Given the description of an element on the screen output the (x, y) to click on. 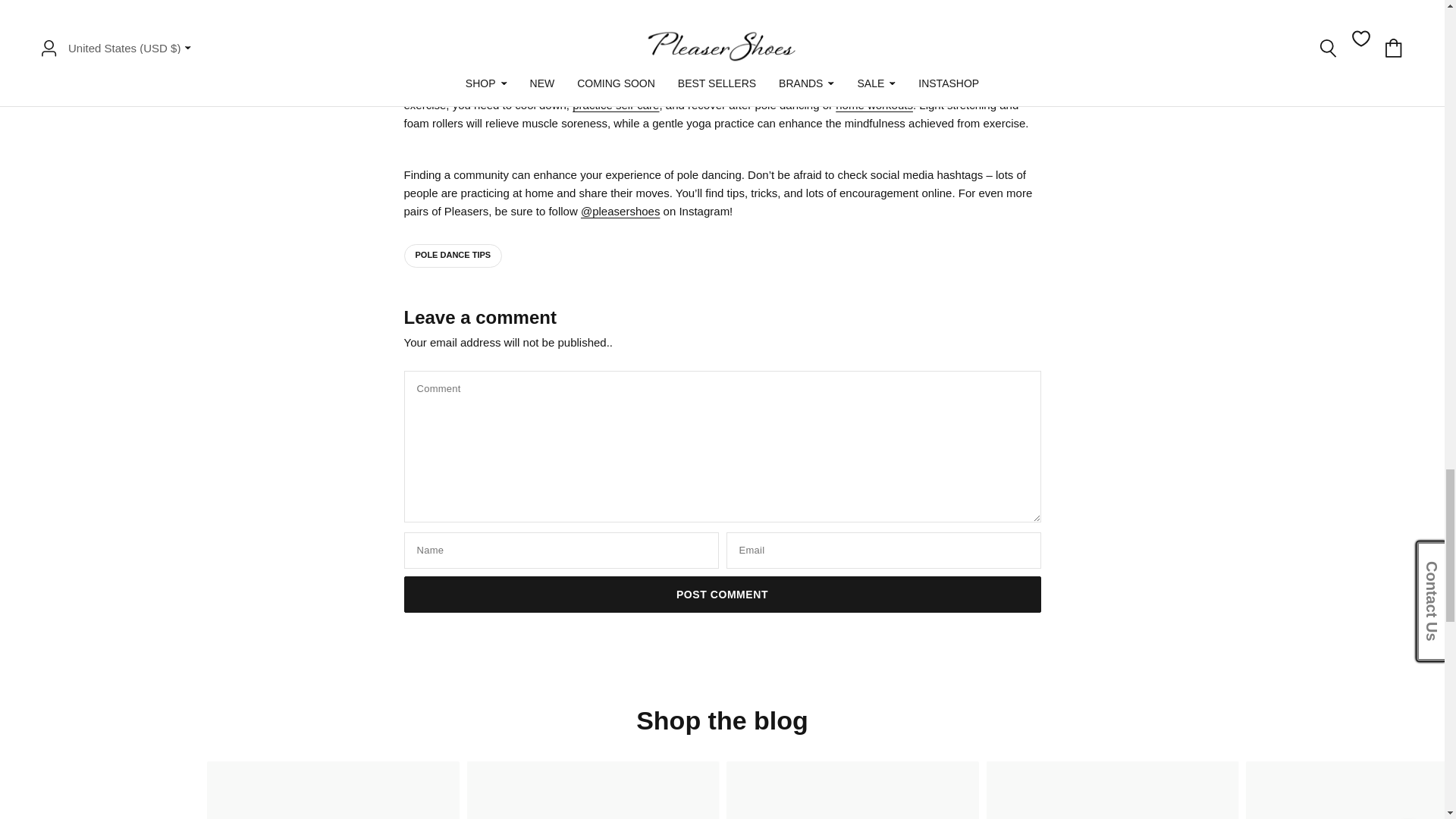
Post comment (722, 594)
